Given the description of an element on the screen output the (x, y) to click on. 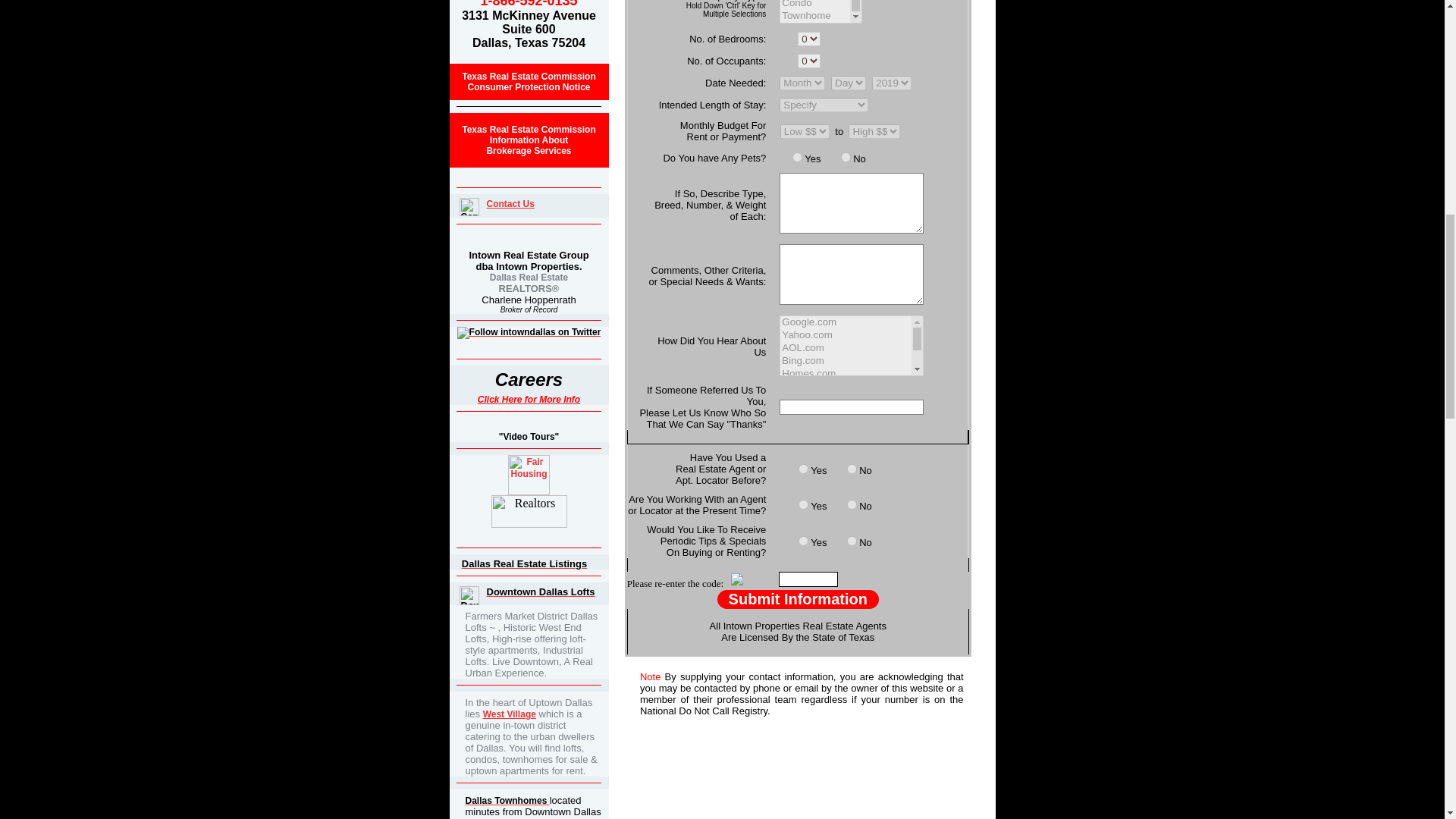
Yes (797, 157)
Yes (528, 81)
Yes (802, 504)
No (802, 469)
No (852, 469)
"Video Tours" (852, 540)
Contact Us (529, 436)
Click Here for More Info (510, 204)
No (528, 398)
Yes (852, 504)
No (802, 540)
